Given the description of an element on the screen output the (x, y) to click on. 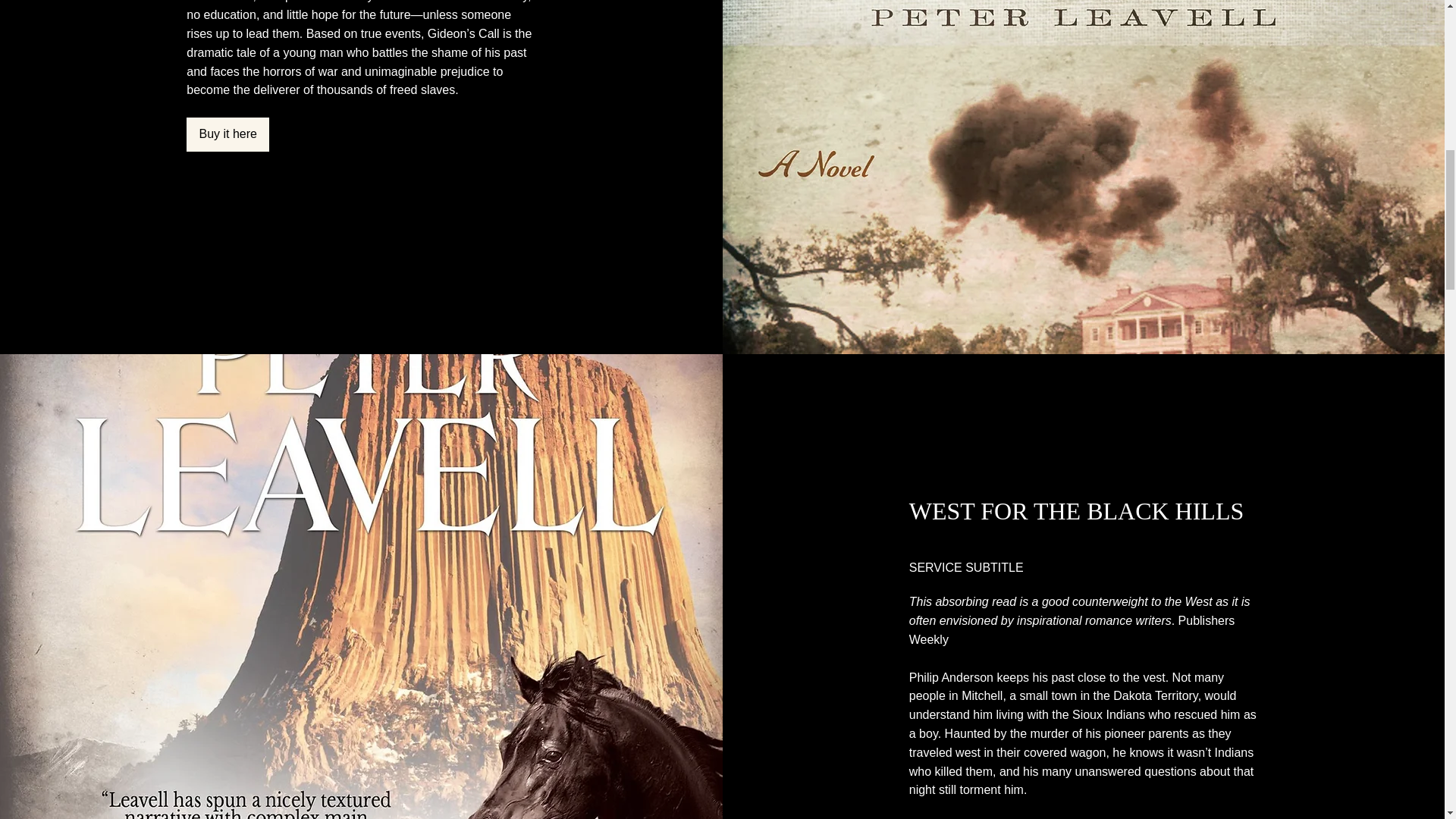
Buy it here (227, 134)
